Given the description of an element on the screen output the (x, y) to click on. 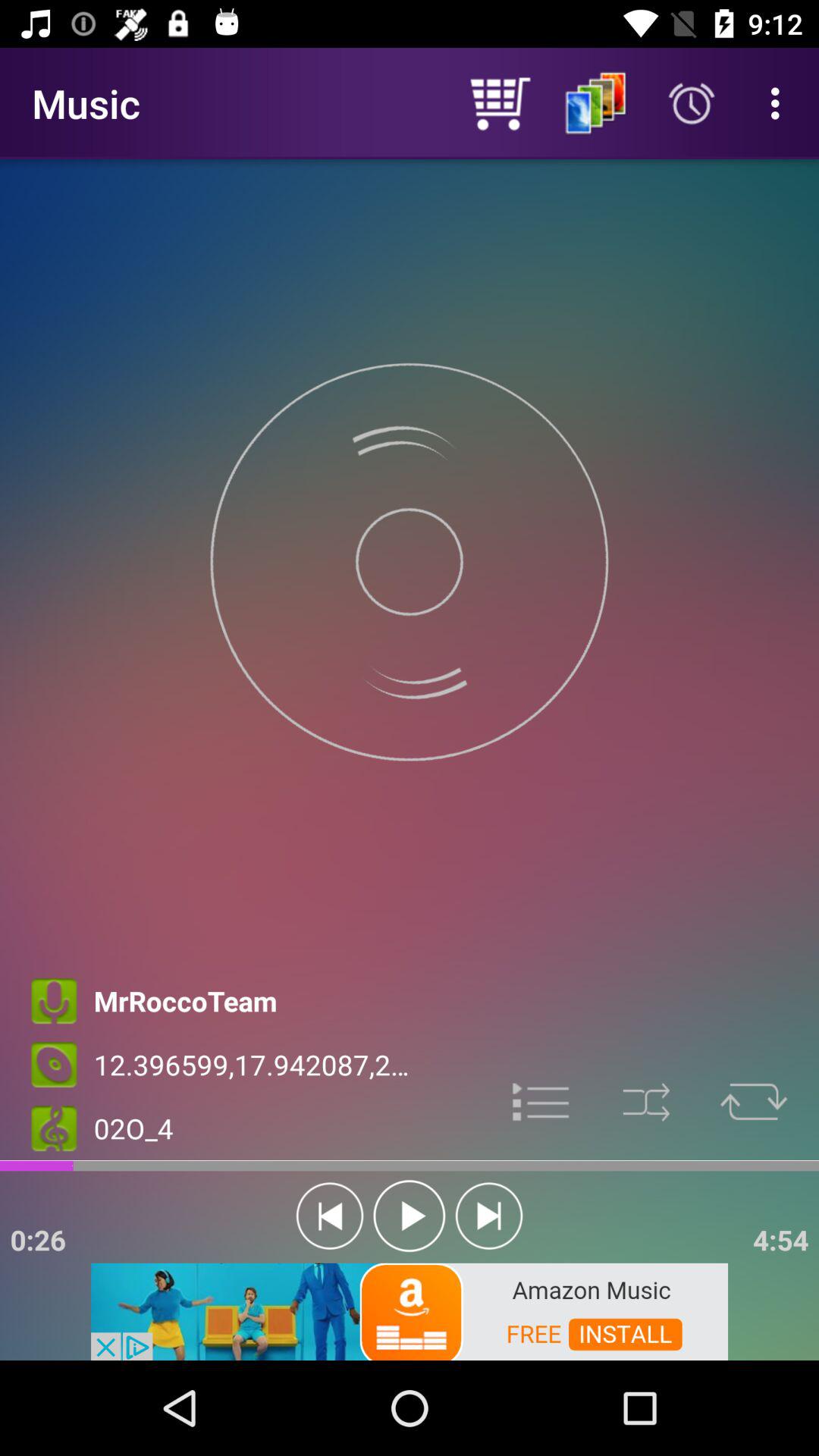
repeat (753, 1102)
